Given the description of an element on the screen output the (x, y) to click on. 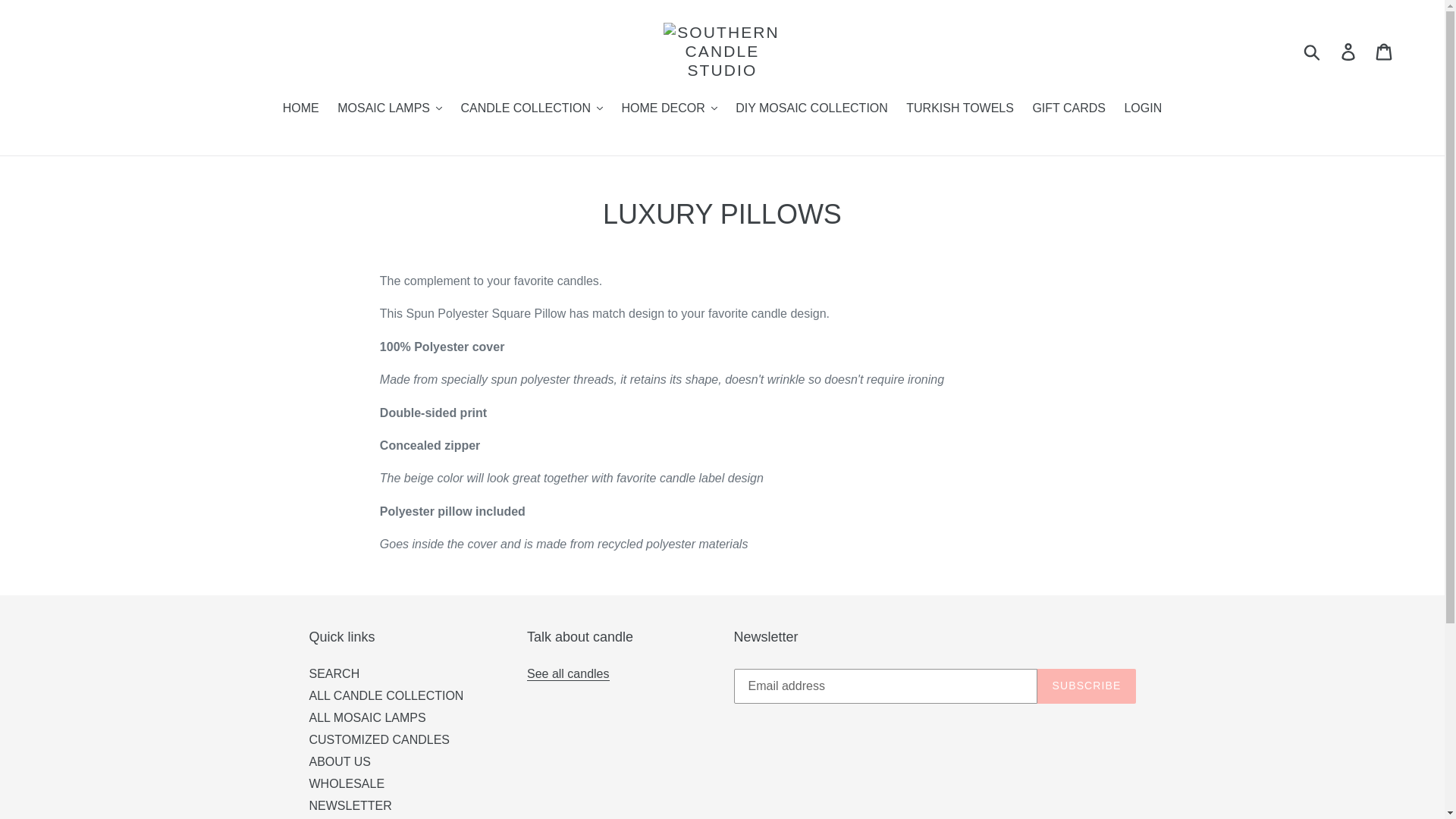
All Candle Collection (568, 673)
Cart (1385, 51)
Submit (1313, 51)
Log in (1349, 51)
